Given the description of an element on the screen output the (x, y) to click on. 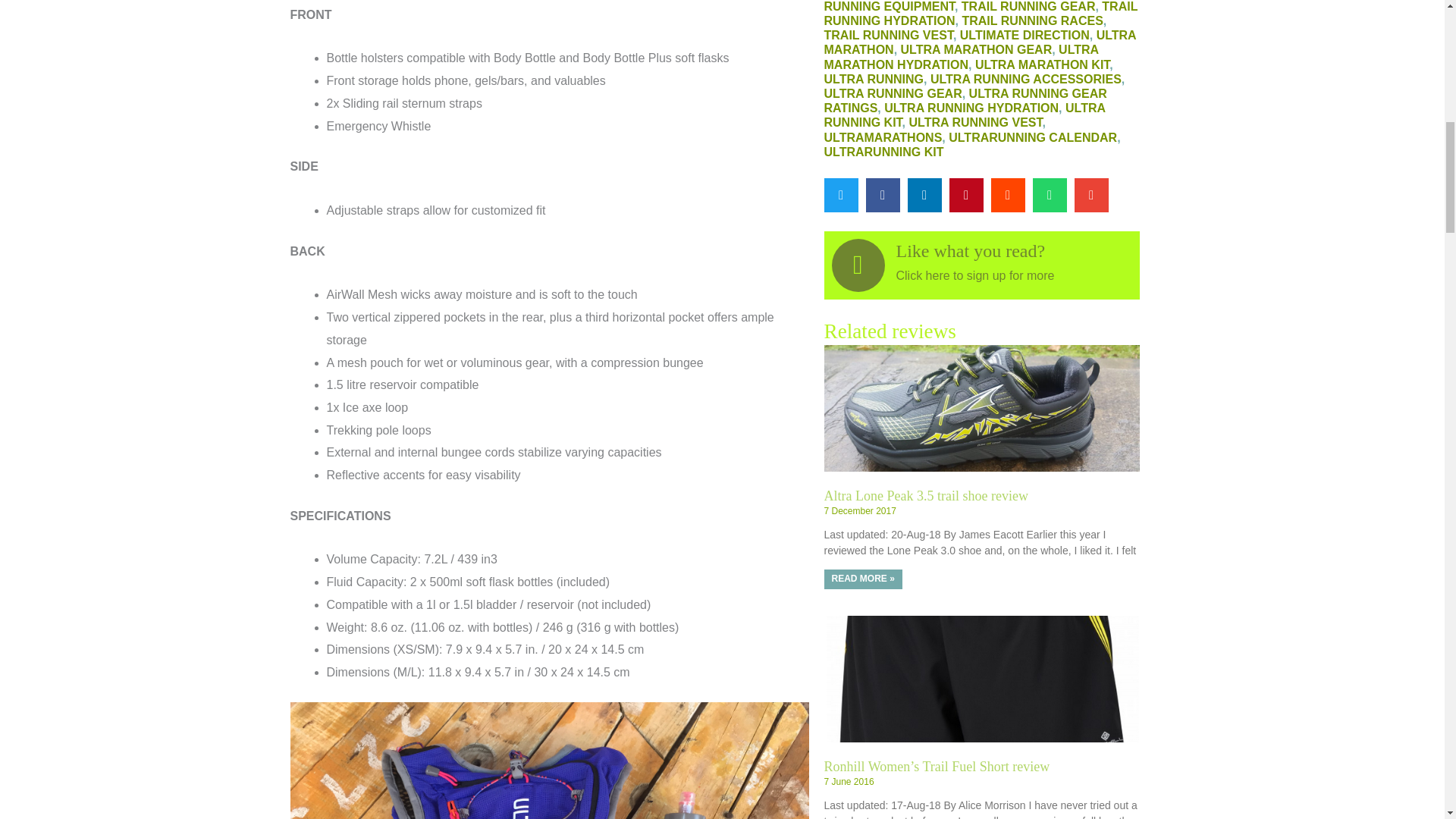
TRAIL RUNNING GEAR (1028, 6)
TRAIL RUNNING HYDRATION (980, 13)
TRAIL RUNNING RACES (1031, 20)
TRAIL RUNNING EQUIPMENT (973, 6)
